Given the description of an element on the screen output the (x, y) to click on. 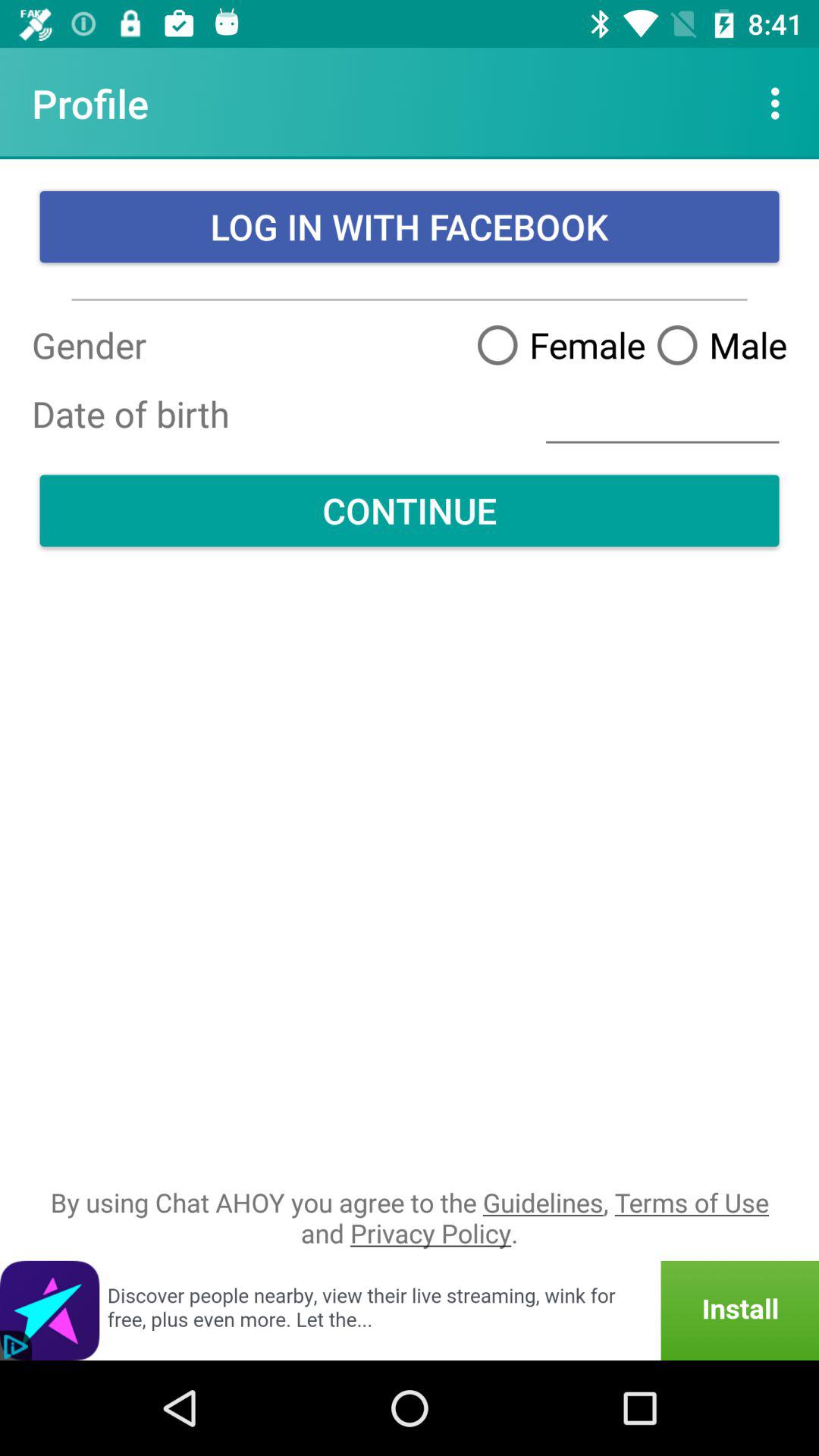
open item to the right of gender (662, 413)
